Given the description of an element on the screen output the (x, y) to click on. 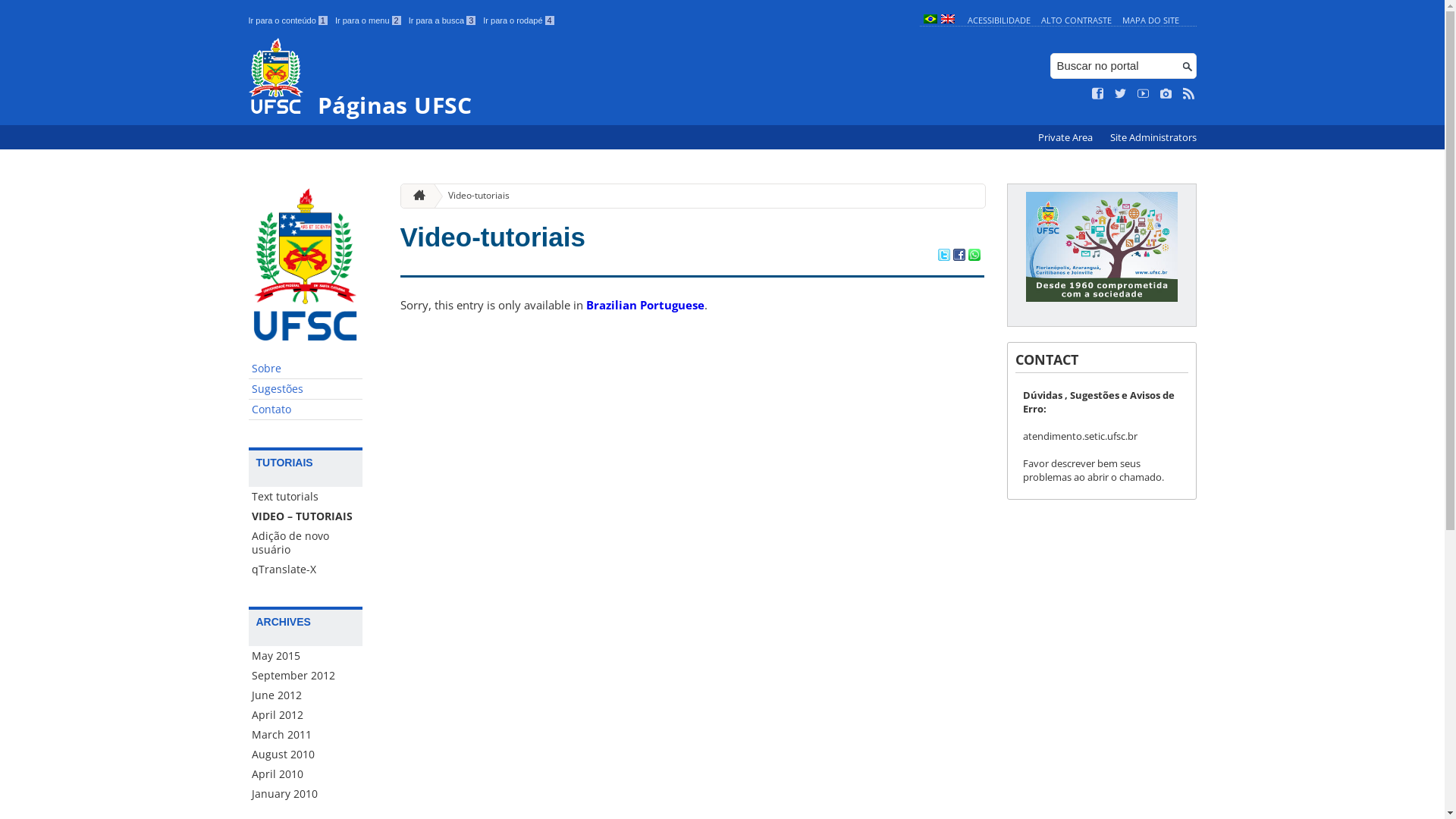
qTranslate-X Element type: text (305, 569)
Siga no Twitter Element type: hover (1120, 93)
June 2012 Element type: text (305, 695)
April 2010 Element type: text (305, 774)
Text tutorials Element type: text (305, 496)
Brazilian Portuguese Element type: text (644, 304)
January 2010 Element type: text (305, 793)
ACESSIBILIDADE Element type: text (998, 19)
Site Administrators Element type: text (1153, 137)
English (en) Element type: hover (946, 19)
Veja no Instagram Element type: hover (1166, 93)
Compartilhar no Facebook Element type: hover (958, 255)
Video-tutoriais Element type: text (492, 236)
September 2012 Element type: text (305, 675)
Ir para a busca 3 Element type: text (442, 20)
Compartilhar no Twitter Element type: hover (943, 255)
Ir para o menu 2 Element type: text (368, 20)
Sobre Element type: text (305, 368)
August 2010 Element type: text (305, 754)
MAPA DO SITE Element type: text (1150, 19)
Compartilhar no WhatsApp Element type: hover (973, 255)
Private Area Element type: text (1065, 137)
Curta no Facebook Element type: hover (1098, 93)
Contato Element type: text (305, 409)
March 2011 Element type: text (305, 734)
April 2012 Element type: text (305, 714)
ALTO CONTRASTE Element type: text (1076, 19)
Video-tutoriais Element type: text (472, 195)
May 2015 Element type: text (305, 655)
